Given the description of an element on the screen output the (x, y) to click on. 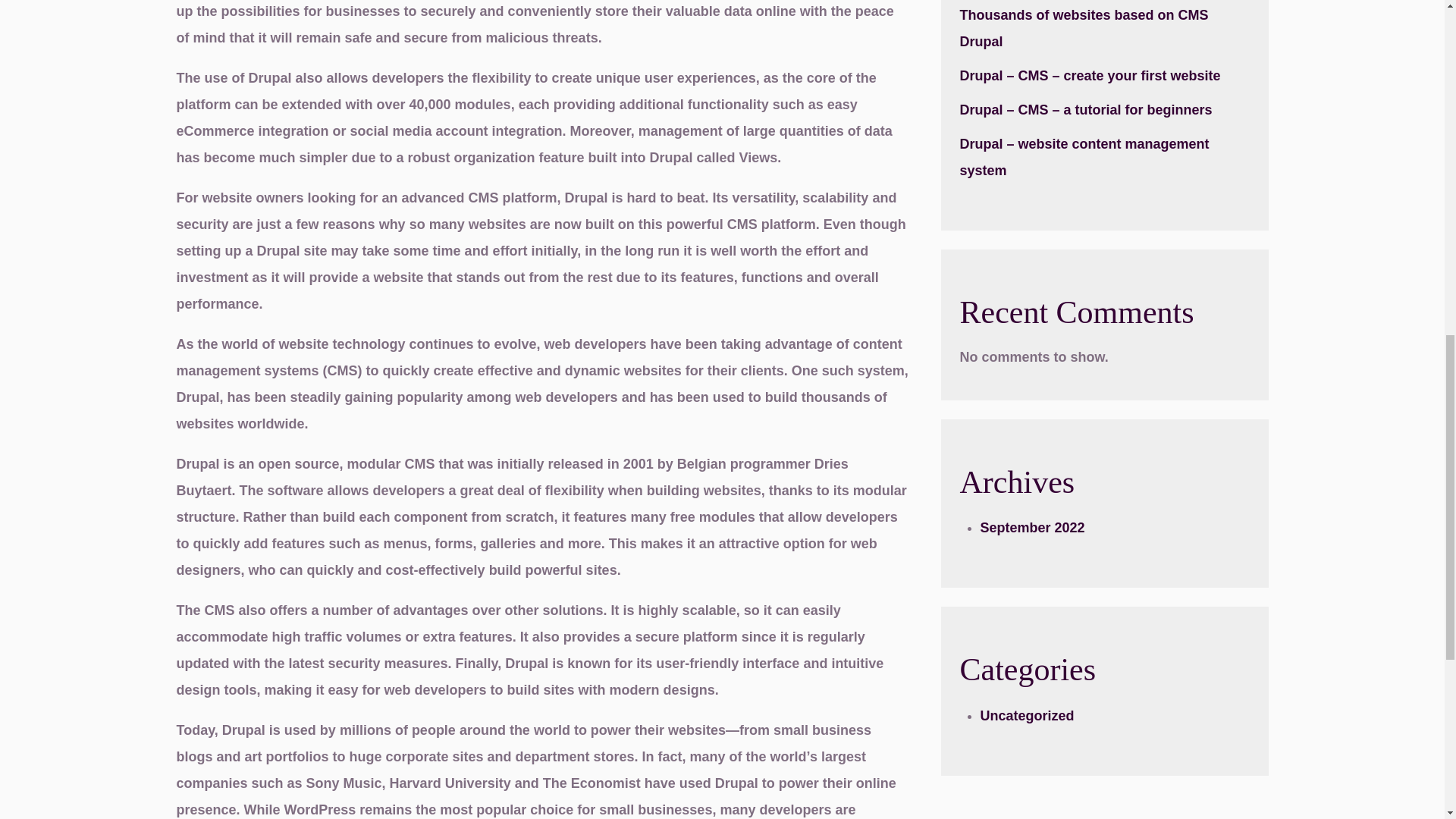
Thousands of websites based on CMS Drupal (1083, 28)
Uncategorized (1026, 715)
September 2022 (1031, 527)
